Given the description of an element on the screen output the (x, y) to click on. 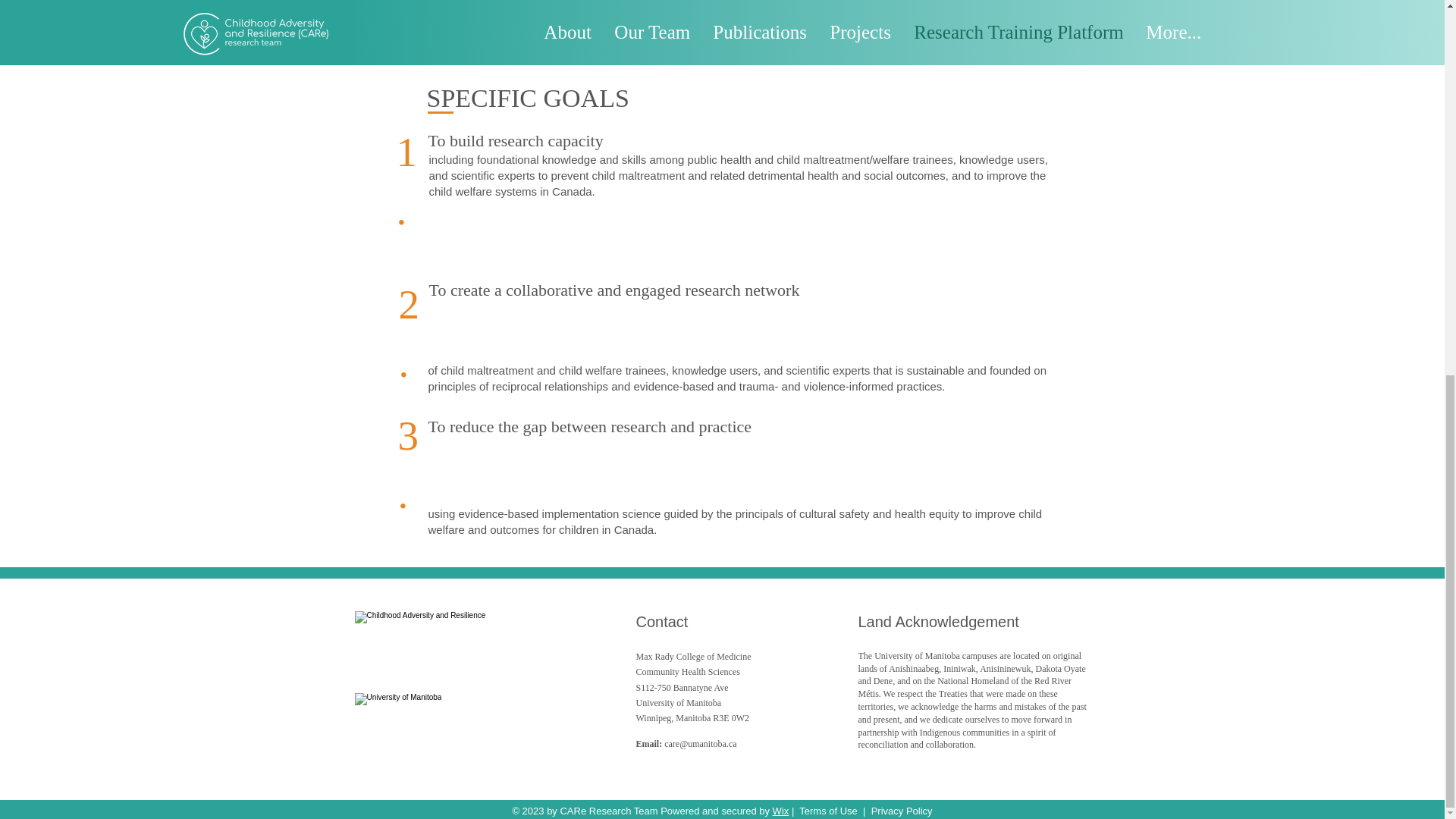
Privacy Policy (901, 810)
Wix (781, 810)
Terms of Use (828, 810)
